Given the description of an element on the screen output the (x, y) to click on. 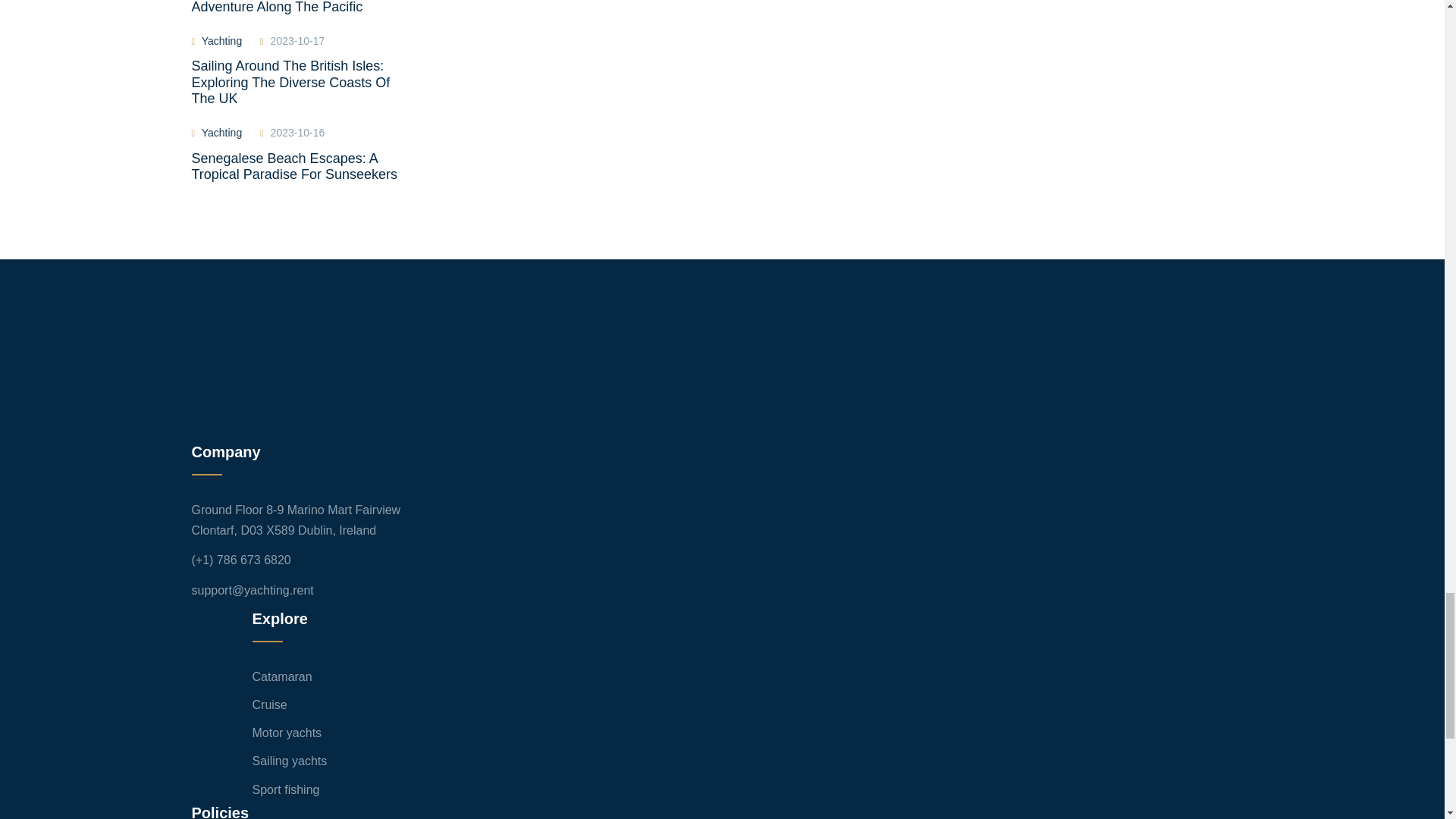
Posts by Yachting (221, 40)
Posts by Yachting (221, 132)
Yachting (221, 40)
